Given the description of an element on the screen output the (x, y) to click on. 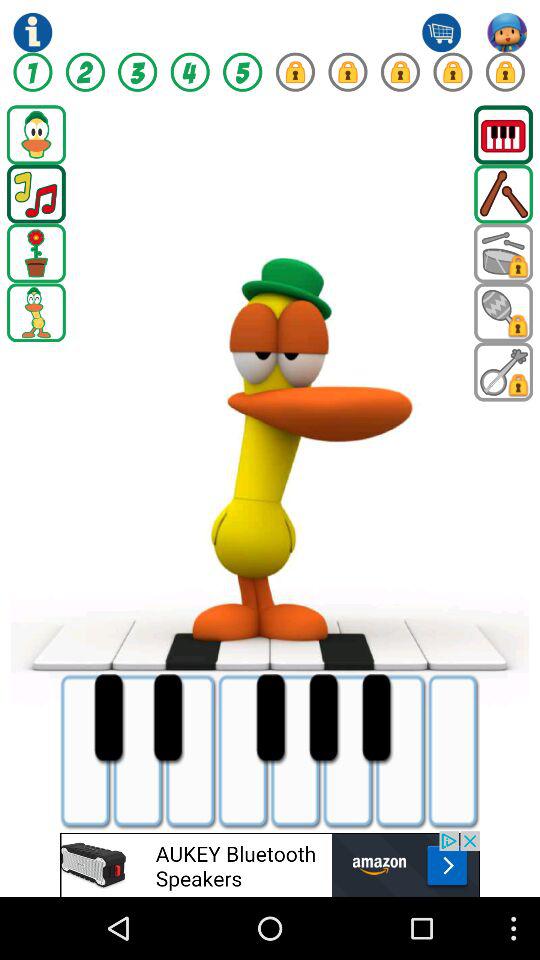
menu page (36, 134)
